Given the description of an element on the screen output the (x, y) to click on. 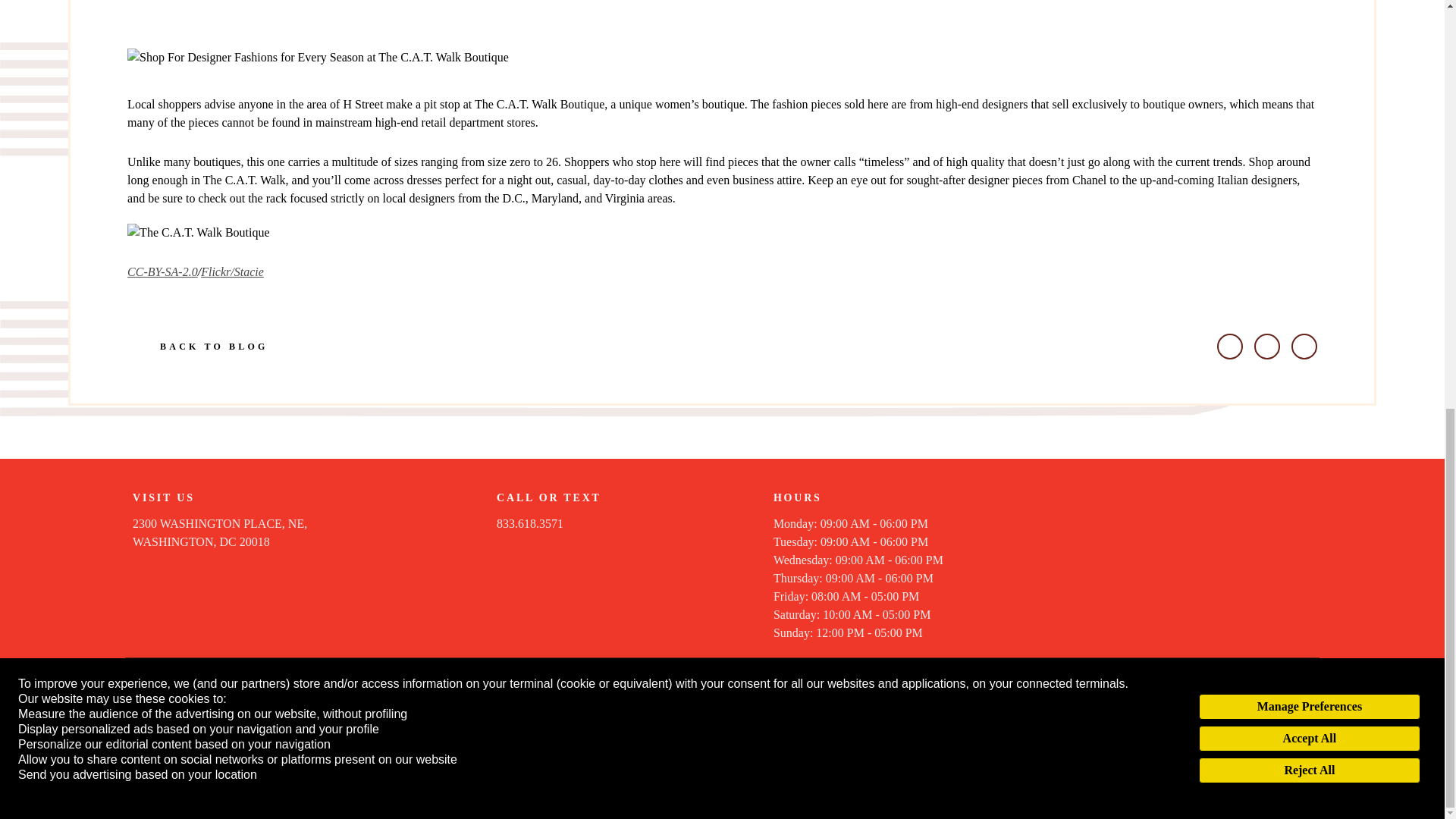
BACK TO BLOG (219, 531)
CC-BY-SA-2.0 (197, 345)
